Given the description of an element on the screen output the (x, y) to click on. 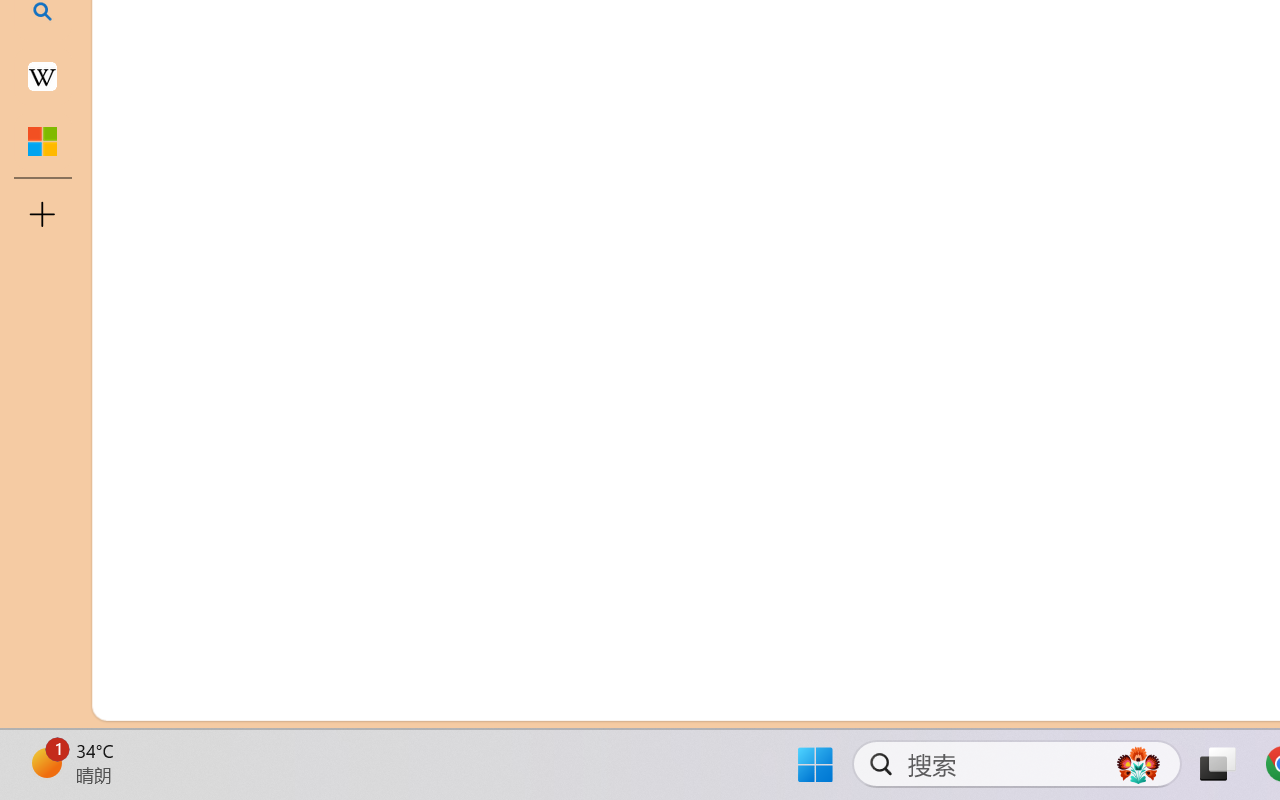
Outline Section (331, 619)
remote (122, 698)
Earth - Wikipedia (42, 75)
No Problems (212, 698)
Manage (135, 591)
Manage (135, 635)
Accounts - Sign in requested (135, 548)
